Given the description of an element on the screen output the (x, y) to click on. 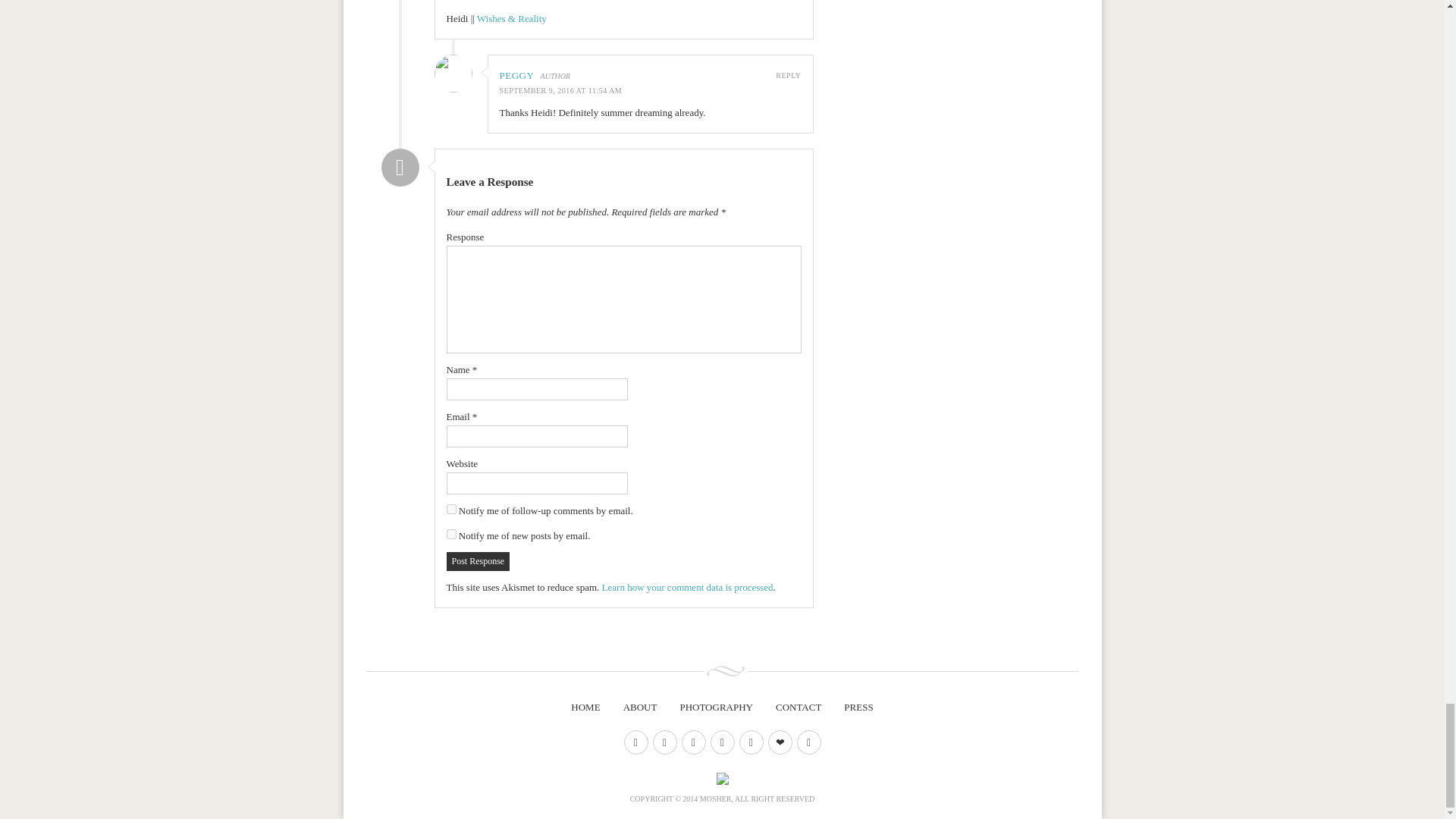
subscribe (450, 533)
subscribe (450, 509)
PEGGY (516, 75)
Post Response (477, 561)
